Given the description of an element on the screen output the (x, y) to click on. 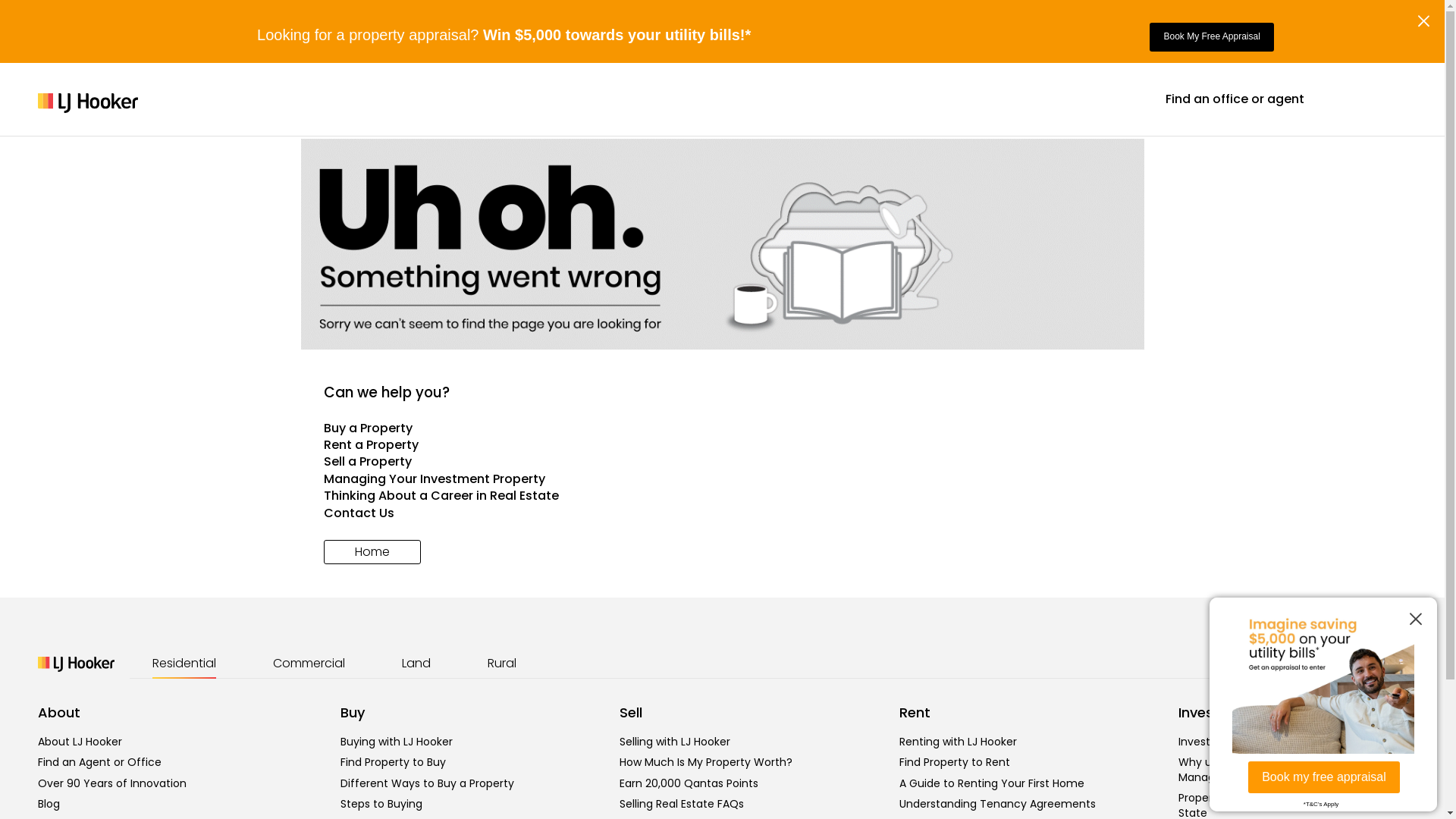
Different Ways to Buy a Property Element type: text (427, 782)
Invest Element type: text (1198, 711)
Rent a Property Element type: text (721, 444)
Commercial Element type: text (309, 663)
Find Property to Buy Element type: text (392, 761)
Rural Element type: text (501, 663)
Selling Real Estate FAQs Element type: text (681, 803)
Over 90 Years of Innovation Element type: text (111, 782)
Buying with LJ Hooker Element type: text (396, 741)
About LJ Hooker Element type: text (79, 741)
Buy Element type: text (352, 711)
Find an Agent or Office Element type: text (99, 761)
Managing Your Investment Property Element type: text (721, 478)
Why use LJ Hooker Property Management Element type: text (1251, 769)
Find Property to Rent Element type: text (954, 761)
Selling with LJ Hooker Element type: text (674, 741)
Earn 20,000 Qantas Points Element type: text (688, 782)
Residential Element type: text (184, 663)
Steps to Buying Element type: text (381, 803)
Understanding Tenancy Agreements Element type: text (997, 803)
Renting with LJ Hooker Element type: text (957, 741)
Rent Element type: text (914, 711)
Land Element type: text (415, 663)
How Much Is My Property Worth? Element type: text (705, 761)
Sell Element type: text (630, 711)
Blog Element type: text (48, 803)
A Guide to Renting Your First Home Element type: text (991, 782)
Home Element type: text (371, 551)
Thinking About a Career in Real Estate Element type: text (721, 495)
Investing with LJ Hooker Element type: text (1240, 741)
Find an office or agent Element type: text (1234, 99)
Buy a Property Element type: text (721, 428)
Sell a Property Element type: text (721, 461)
Contact Us Element type: text (721, 513)
About Element type: text (58, 711)
